Given the description of an element on the screen output the (x, y) to click on. 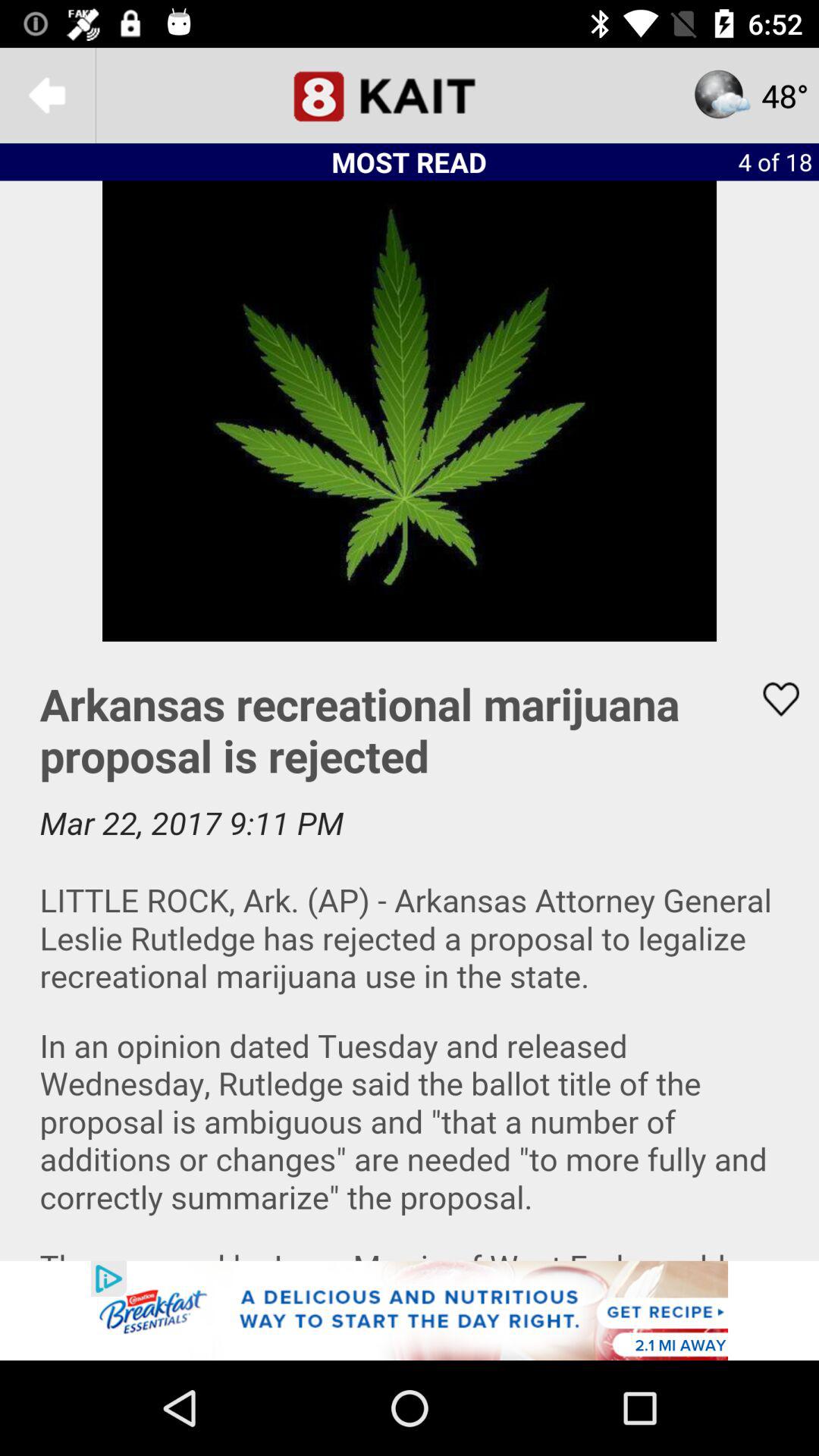
open advertisement (409, 1310)
